Given the description of an element on the screen output the (x, y) to click on. 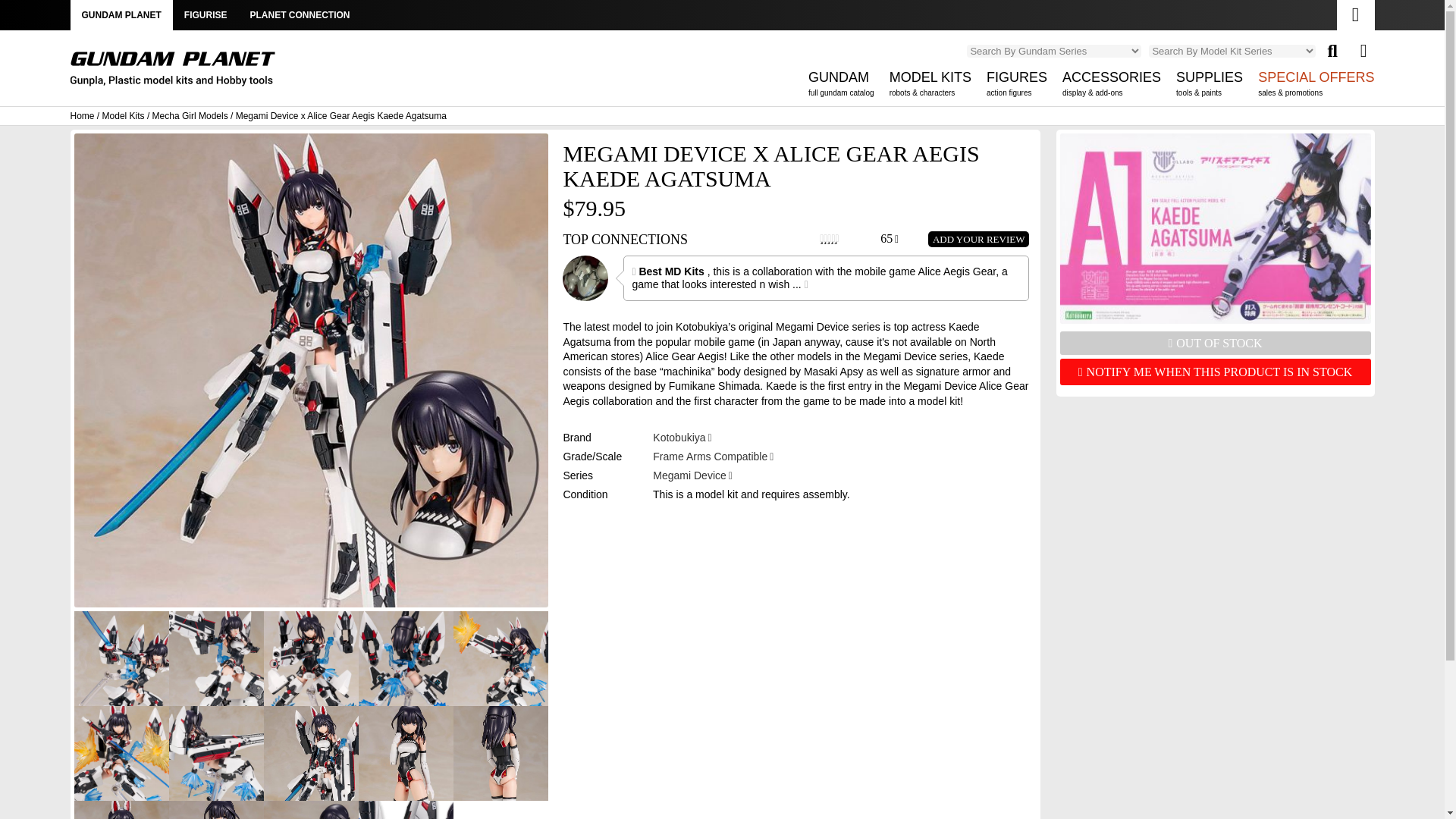
FIGURISE (205, 15)
GUNDAM PLANET (841, 87)
Gundam Planet (120, 15)
Gundam Planet (172, 68)
PLANET CONNECTION (172, 73)
